Given the description of an element on the screen output the (x, y) to click on. 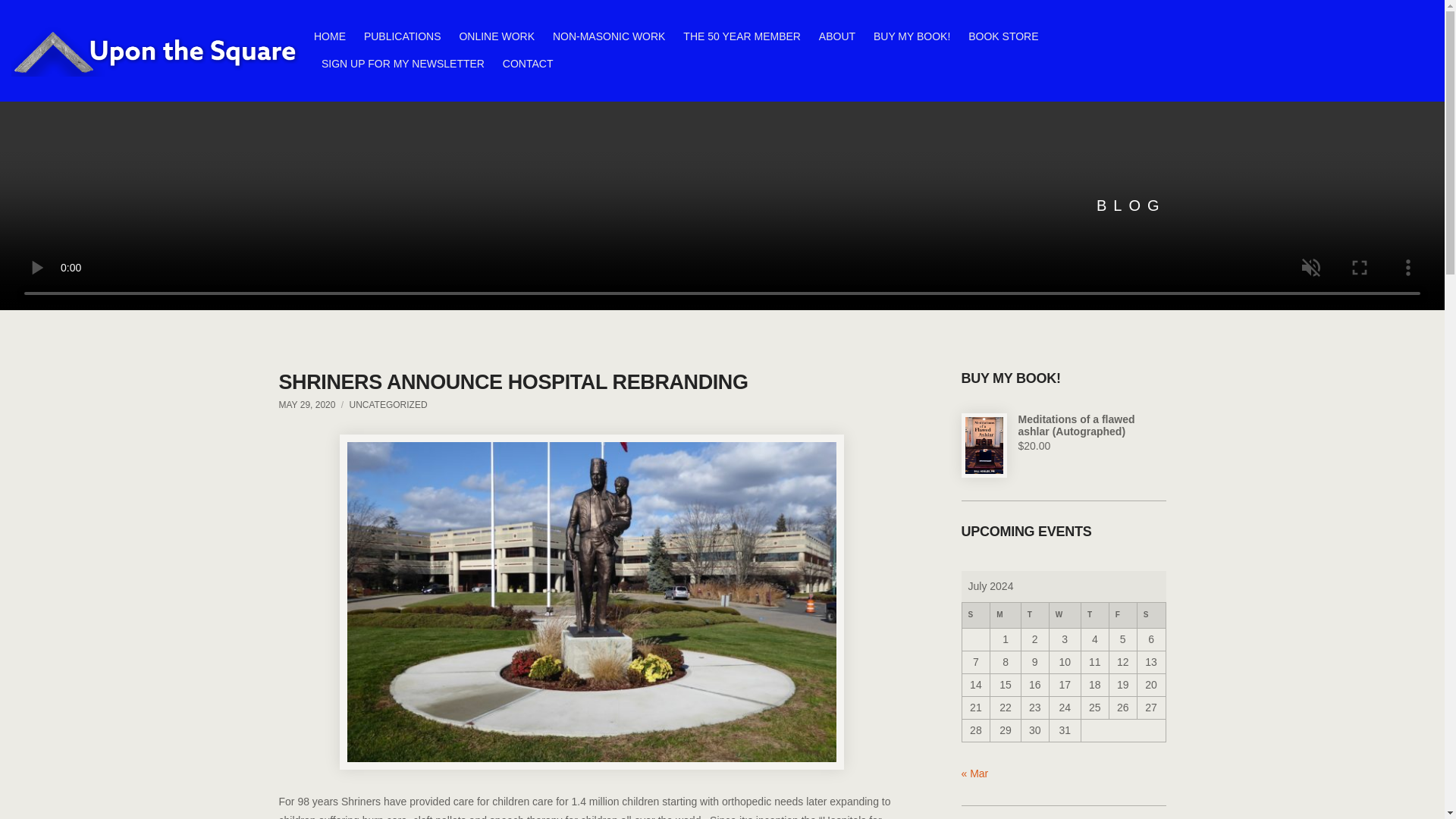
CONTACT (527, 62)
NON-MASONIC WORK (609, 35)
THE 50 YEAR MEMBER (741, 35)
Saturday (1151, 615)
Monday (1005, 615)
SIGN UP FOR MY NEWSLETTER (402, 62)
ABOUT (837, 35)
UNCATEGORIZED (387, 404)
Thursday (1094, 615)
BOOK STORE (1003, 35)
BUY MY BOOK! (911, 35)
Wednesday (1064, 615)
PUBLICATIONS (402, 35)
Friday (1122, 615)
ONLINE WORK (496, 35)
